Given the description of an element on the screen output the (x, y) to click on. 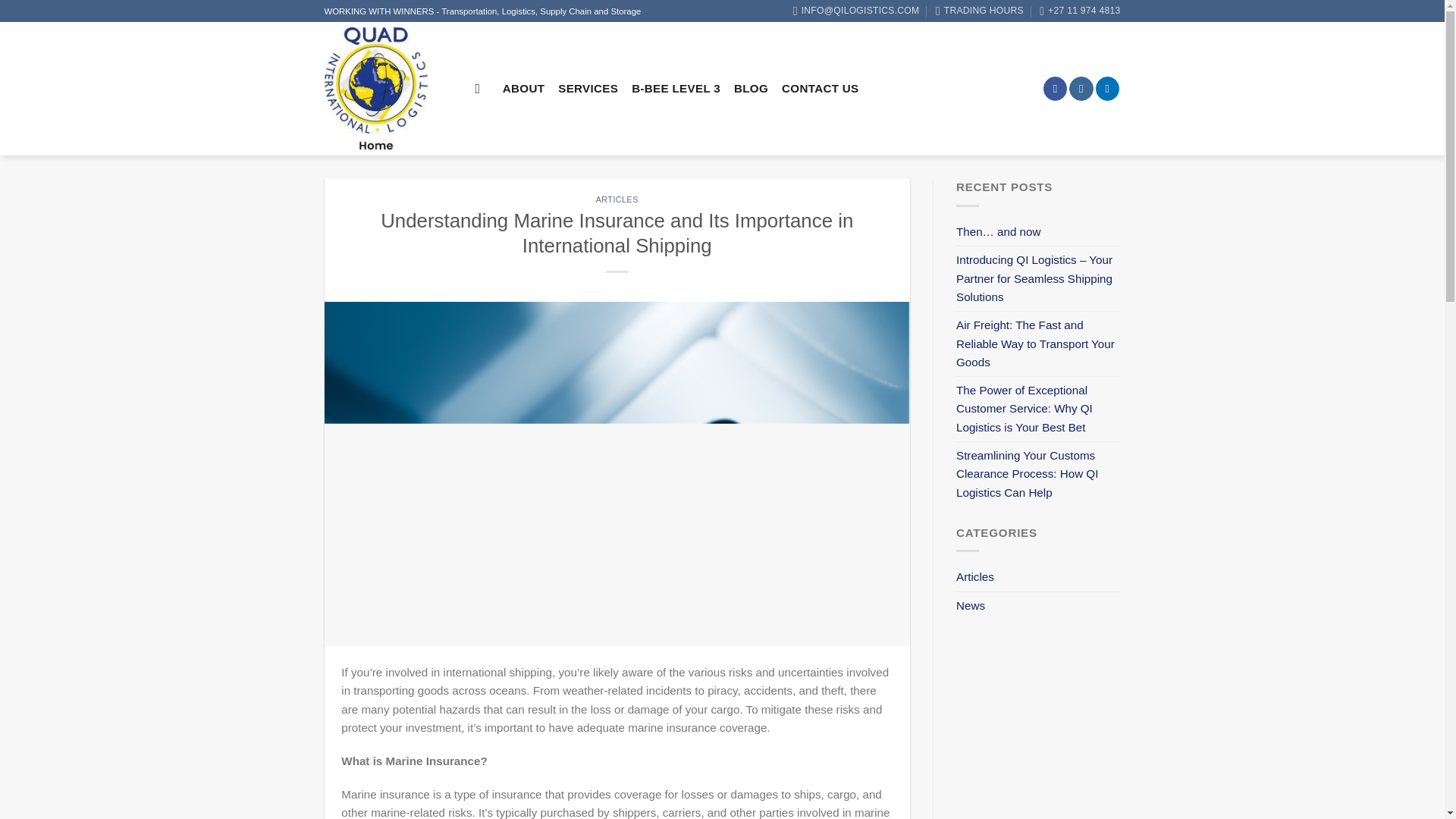
TRADING HOURS (979, 11)
BLOG (750, 88)
Follow on LinkedIn (1107, 88)
Follow on Instagram (1080, 88)
ABOUT (523, 88)
Articles (975, 576)
Follow on Facebook (1055, 88)
ARTICLES (617, 198)
B-BEE LEVEL 3 (675, 88)
SERVICES (587, 88)
News (970, 605)
